Given the description of an element on the screen output the (x, y) to click on. 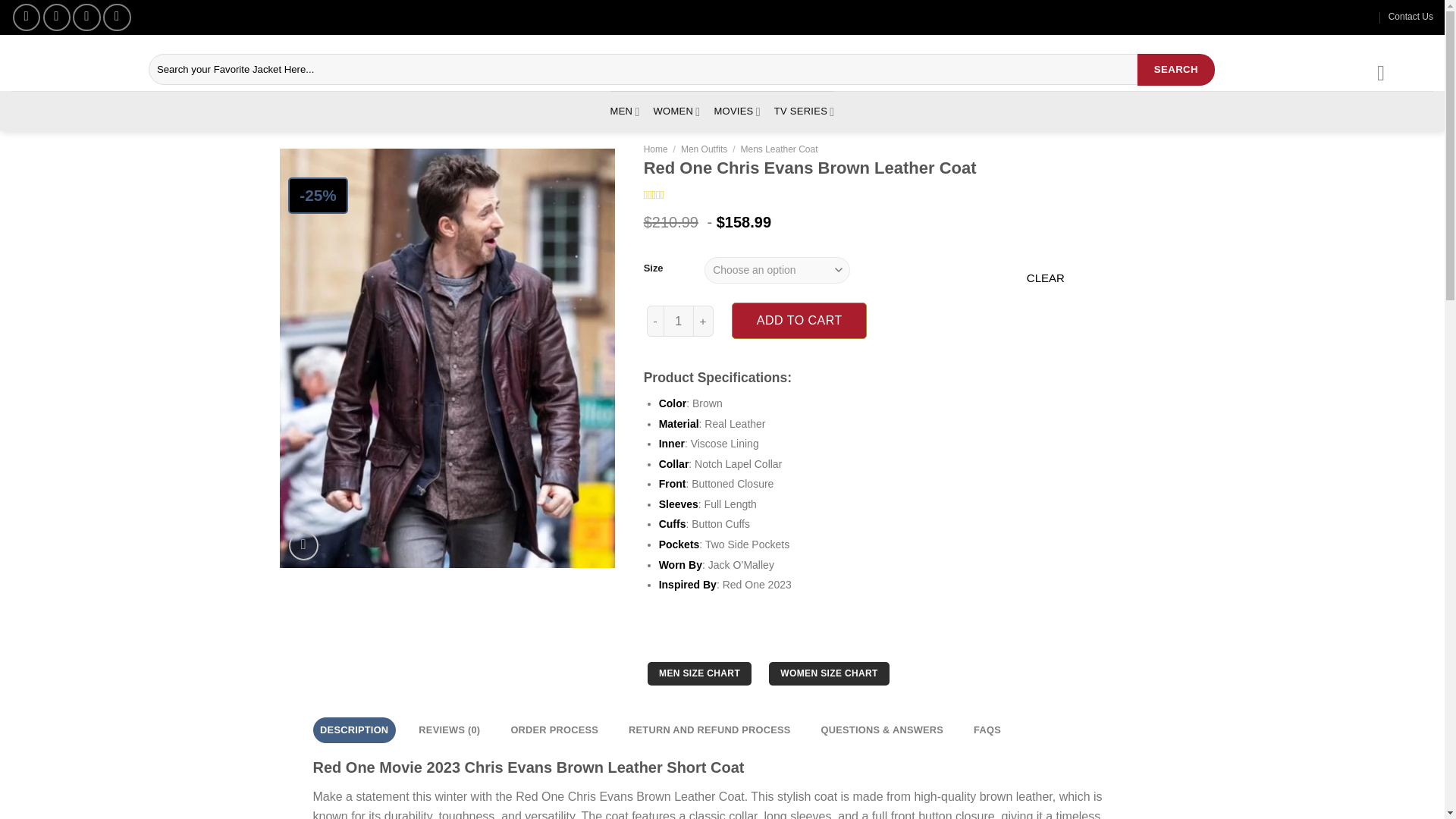
Follow on Facebook (26, 17)
Qty (678, 320)
Zoom (303, 545)
1 (678, 320)
Contact Us (1410, 16)
Follow on Twitter (86, 17)
SEARCH (1175, 69)
Follow on Pinterest (117, 17)
WOMEN (676, 111)
